Given the description of an element on the screen output the (x, y) to click on. 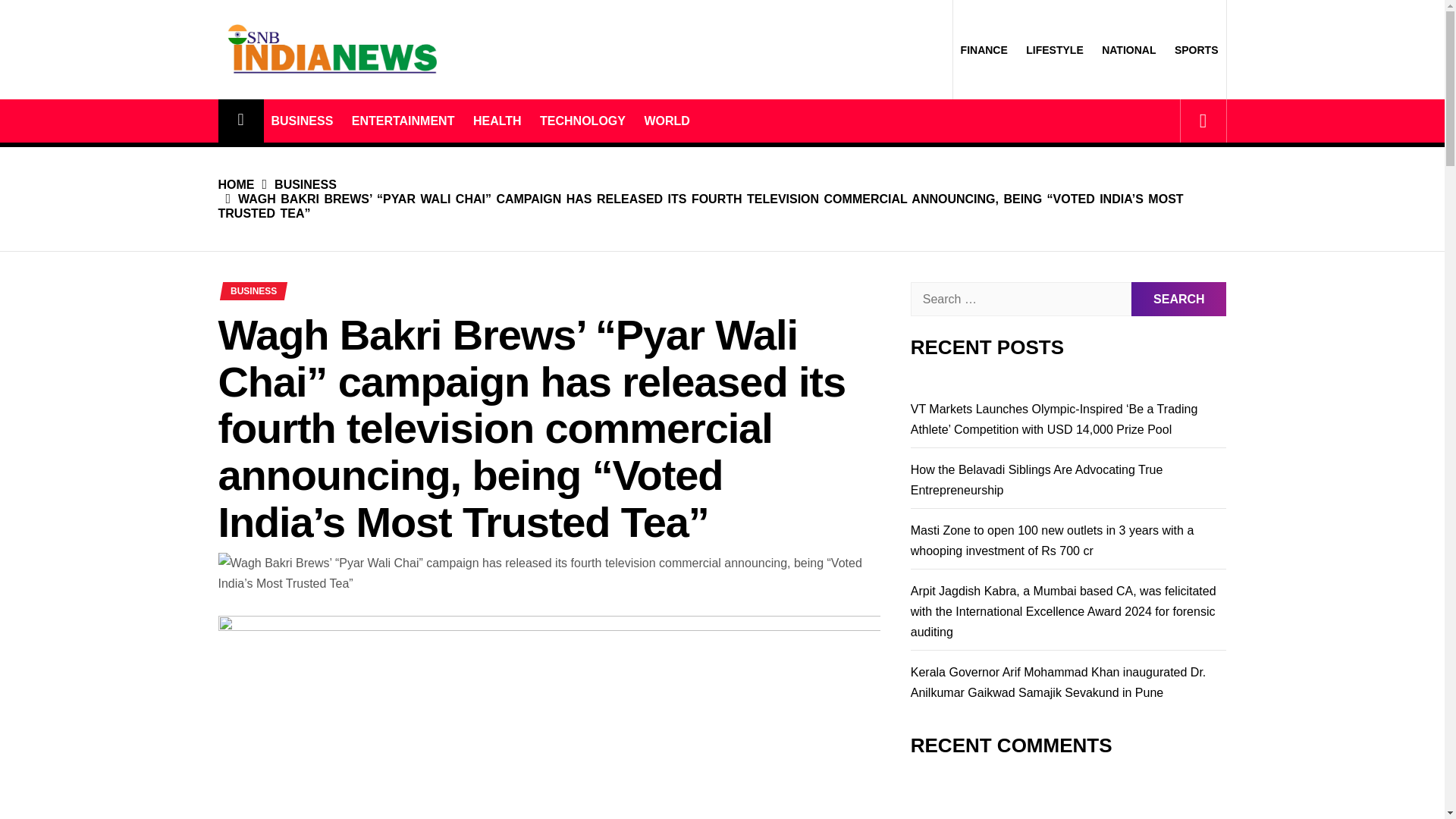
HOME (236, 184)
LIFESTYLE (1053, 50)
FINANCE (983, 50)
Search (1178, 298)
WORLD (666, 120)
SNB INDIA NEWS (331, 117)
NATIONAL (1128, 50)
Home (240, 120)
BUSINESS (253, 290)
ENTERTAINMENT (403, 120)
BUSINESS (295, 184)
SPORTS (1196, 50)
BUSINESS (301, 120)
TECHNOLOGY (582, 120)
Search (1178, 298)
